Given the description of an element on the screen output the (x, y) to click on. 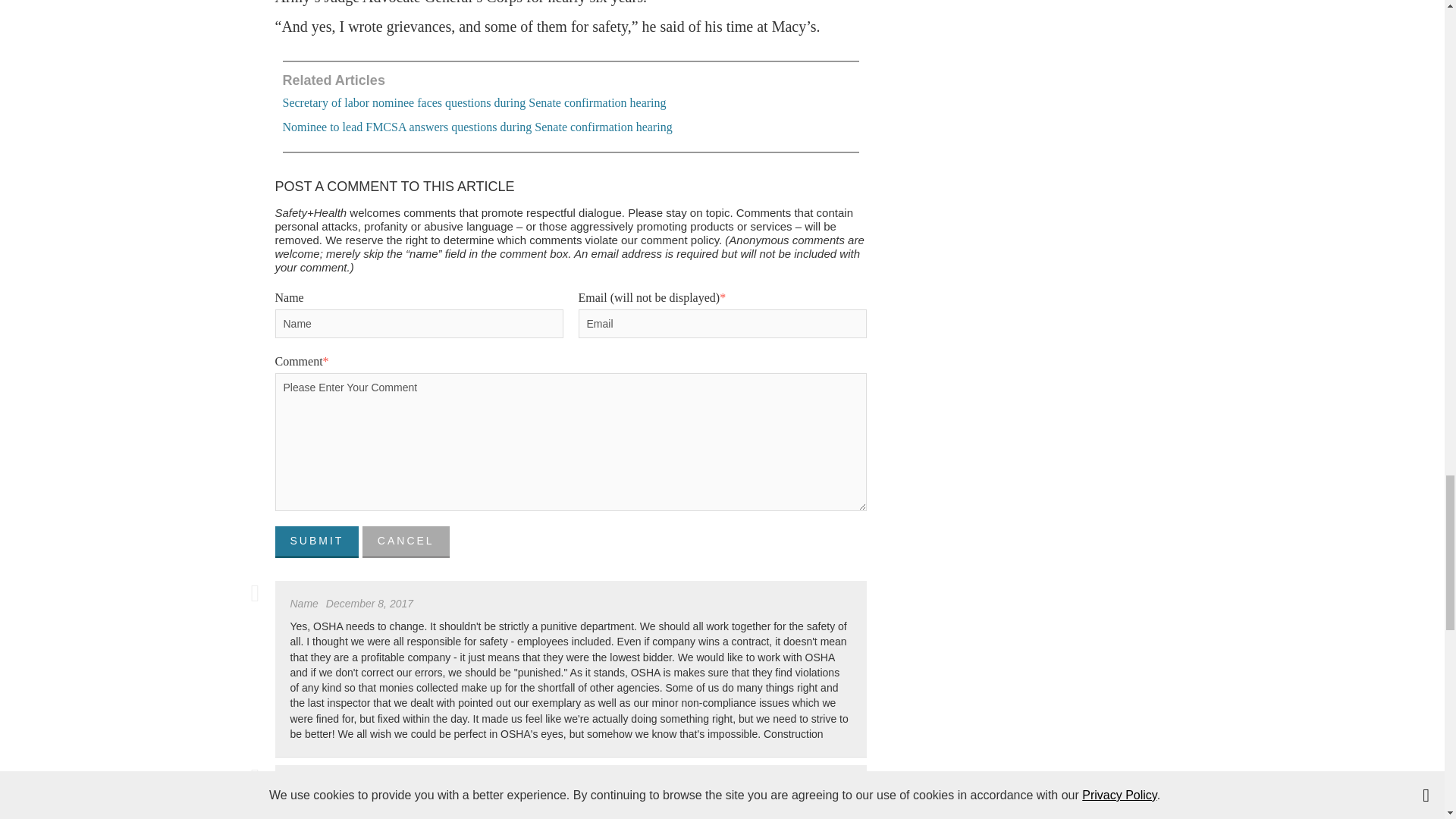
Submit (316, 541)
Name (418, 323)
Email (722, 323)
Cancel (405, 541)
